Given the description of an element on the screen output the (x, y) to click on. 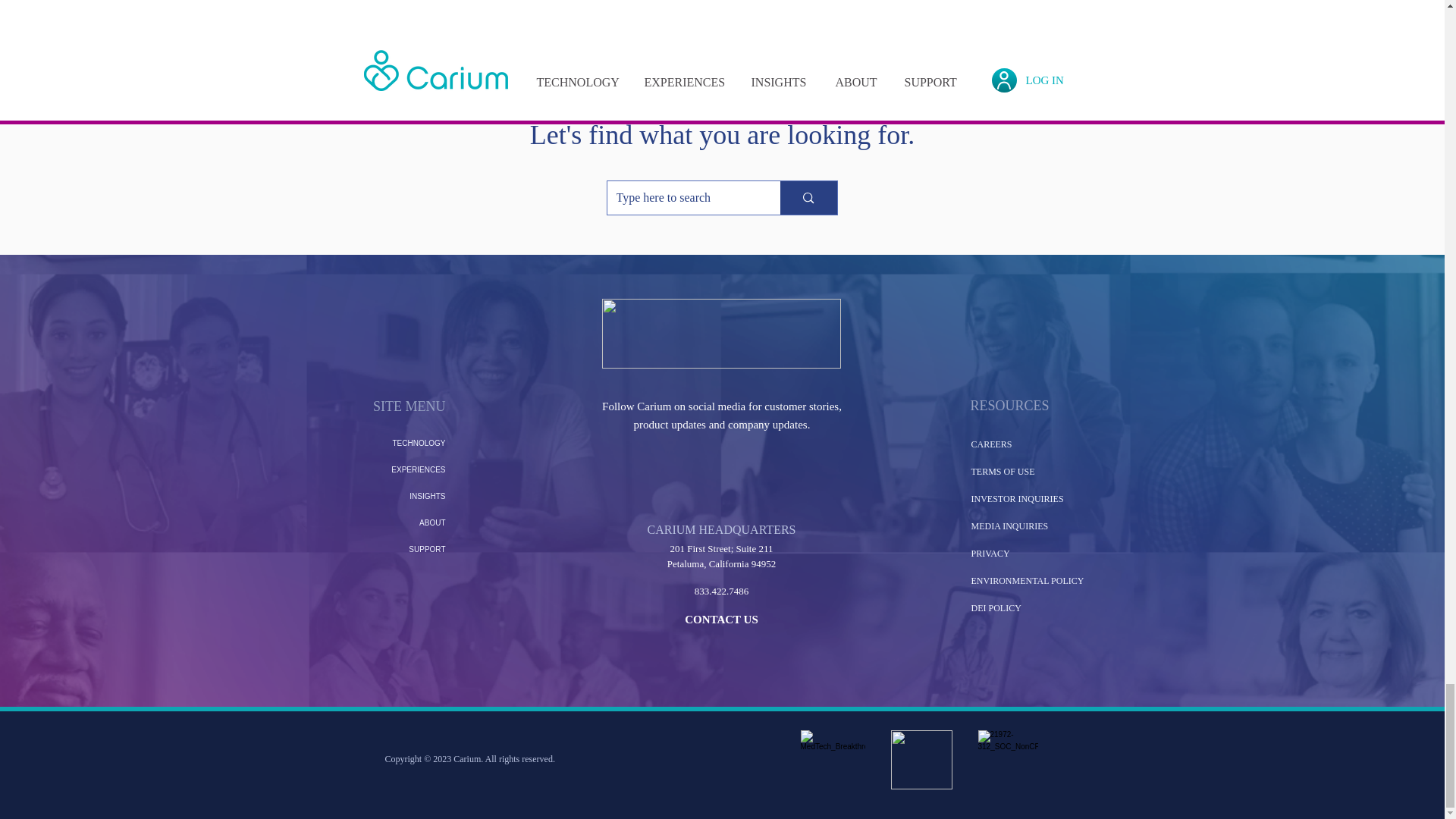
CONTACT US (721, 619)
Schedule A Consult (722, 29)
TERMS OF USE (1002, 471)
INSIGHTS (399, 496)
PRIVACY (990, 552)
CAREERS (991, 443)
MEDIA INQUIRIES (1009, 525)
ABOUT (399, 522)
EXPERIENCES (399, 469)
INVESTOR INQUIRIES (1016, 498)
SUPPORT (399, 549)
KLAS CT Badge.png (920, 759)
TECHNOLOGY (399, 442)
